Given the description of an element on the screen output the (x, y) to click on. 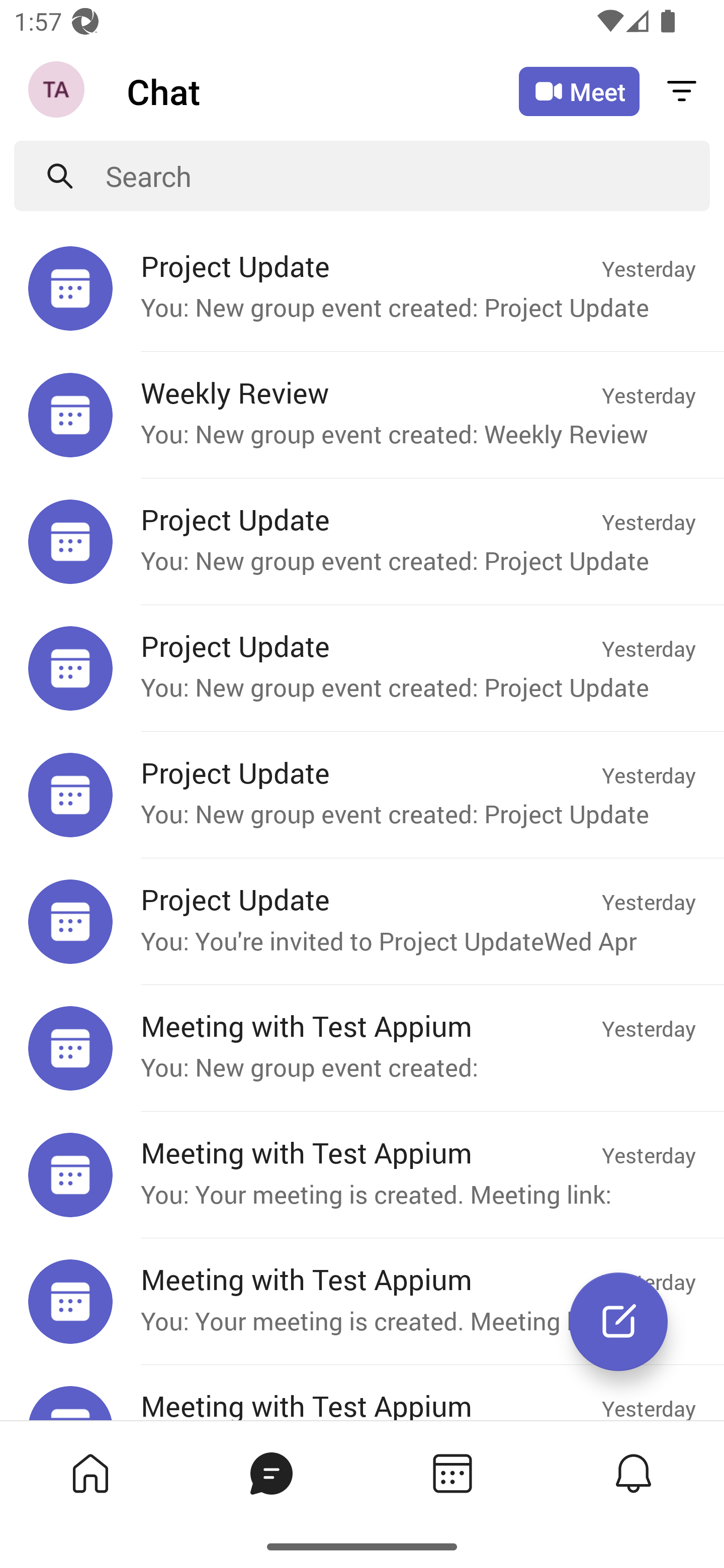
Filter chat messages (681, 90)
Navigation (58, 91)
Meet Meet now or join with an ID (579, 91)
Search (407, 176)
New chat (618, 1321)
Home tab,1 of 4, not selected (90, 1472)
Chat tab, 2 of 4 (271, 1472)
Calendar tab,3 of 4, not selected (452, 1472)
Activity tab,4 of 4, not selected (633, 1472)
